Given the description of an element on the screen output the (x, y) to click on. 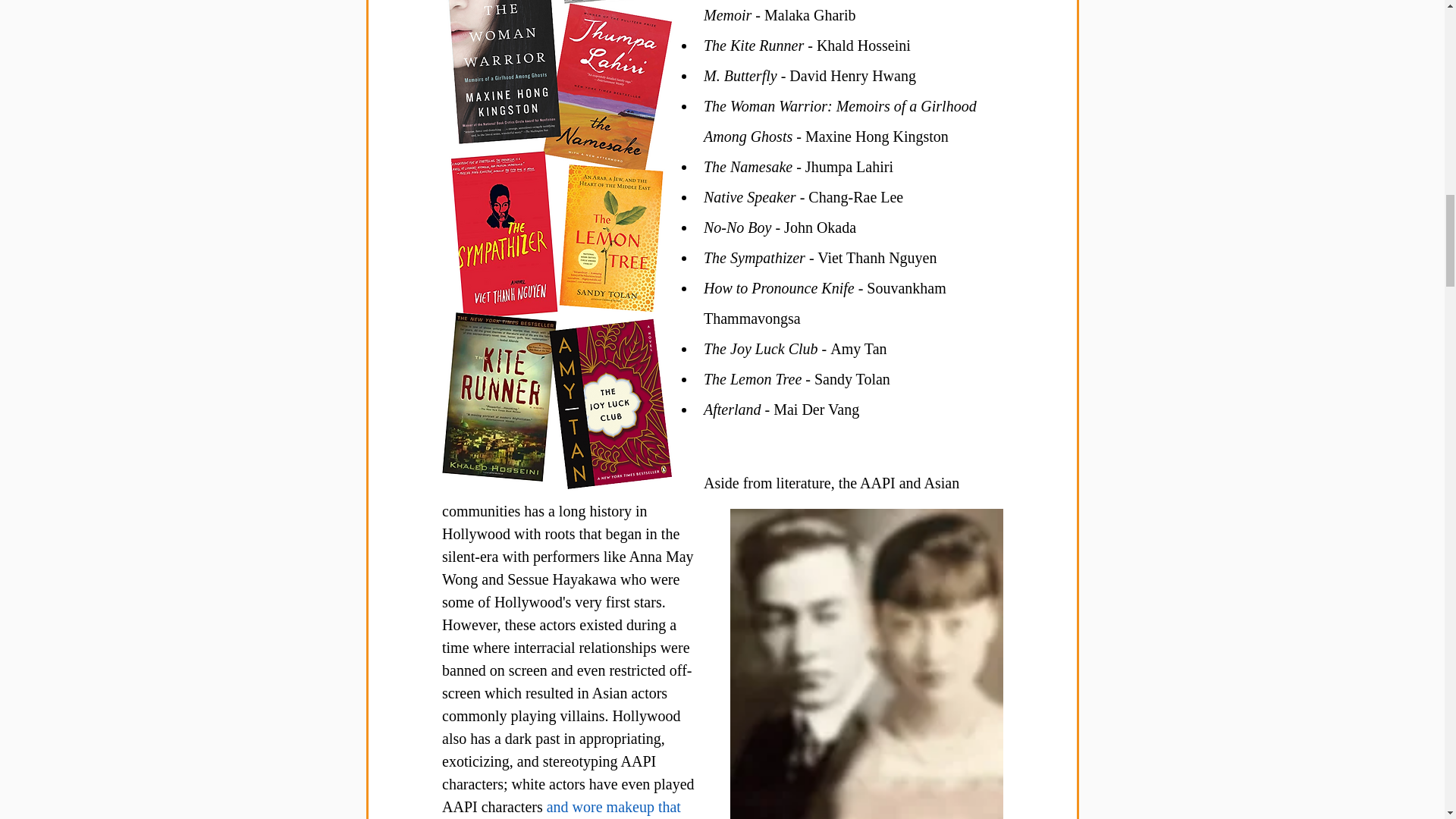
and wore makeup that created racist caricatures (562, 808)
